Given the description of an element on the screen output the (x, y) to click on. 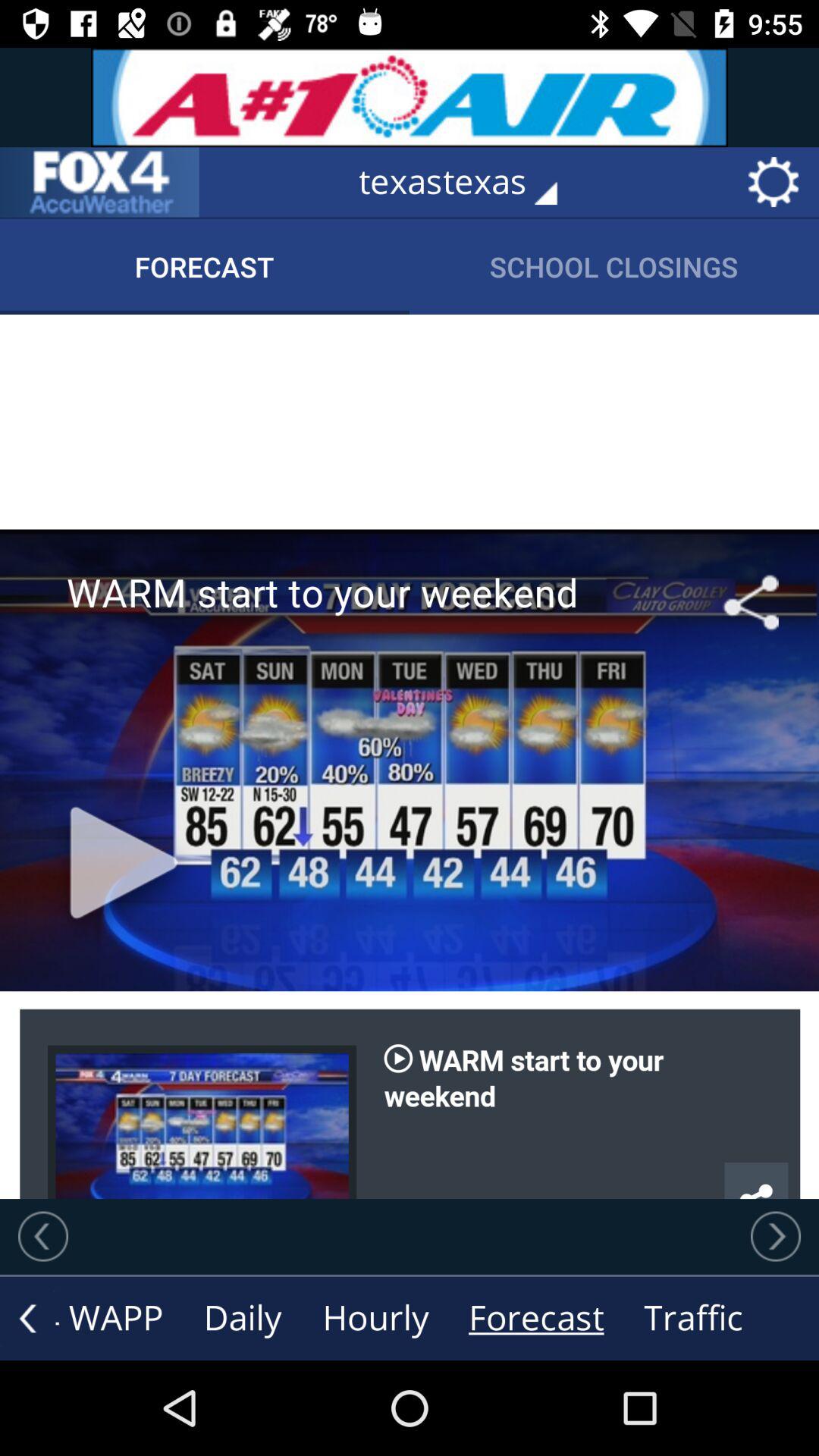
back button (27, 1318)
